Given the description of an element on the screen output the (x, y) to click on. 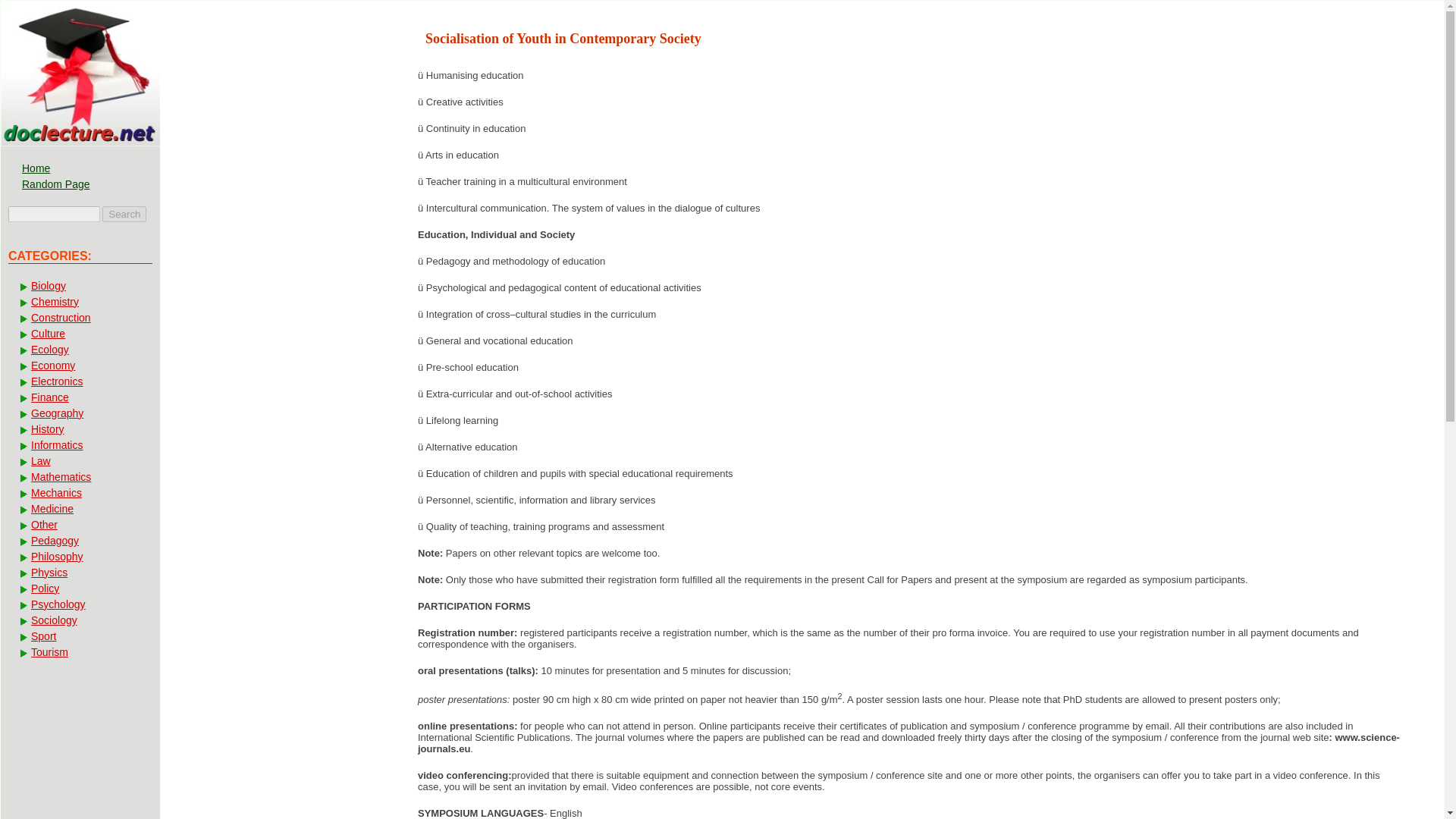
Sociology (79, 620)
Other (79, 524)
Psychology (79, 603)
Search (124, 213)
Physics (79, 572)
Chemistry (79, 301)
Mathematics (79, 477)
Electronics (79, 381)
Construction (79, 317)
Sport (79, 635)
Culture (79, 333)
Informatics (79, 445)
Philosophy (79, 556)
Mechanics (79, 492)
Random Page (74, 183)
